Given the description of an element on the screen output the (x, y) to click on. 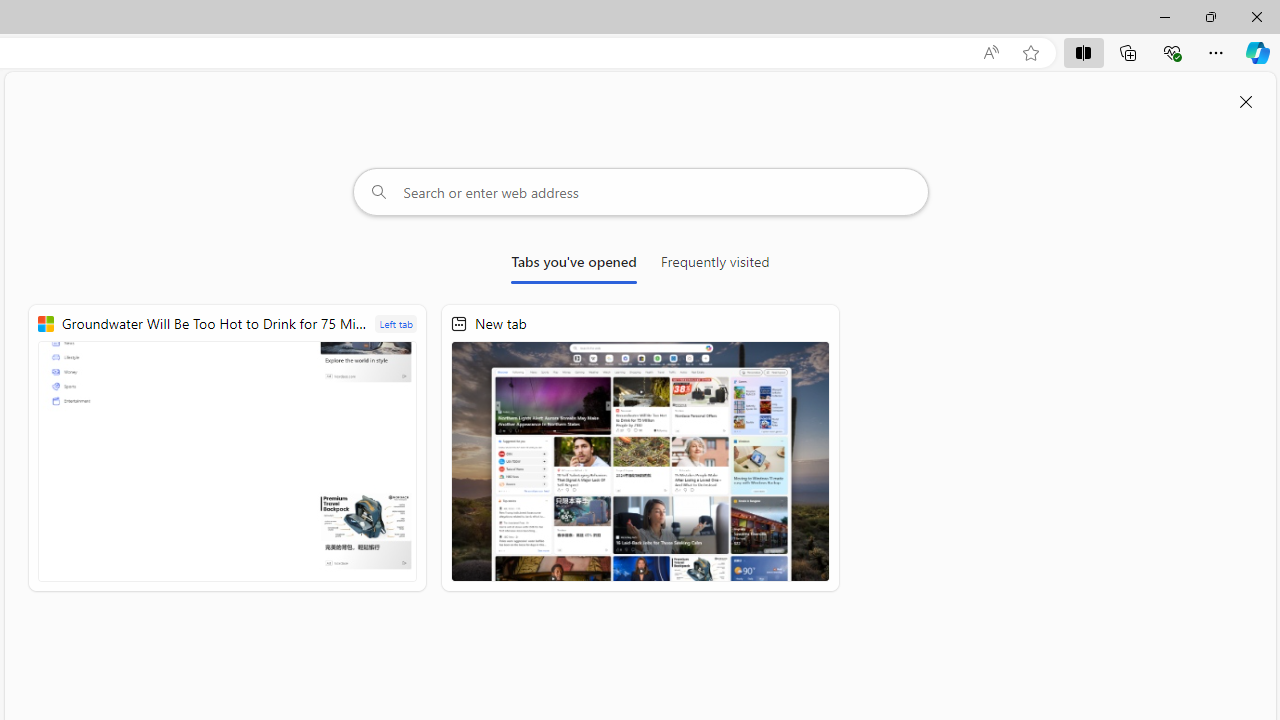
Add this page to favorites (Ctrl+D) (1030, 53)
Tabs you've opened (573, 265)
Frequently visited (715, 265)
Split screen (1083, 52)
Close (1256, 16)
Read aloud this page (Ctrl+Shift+U) (991, 53)
Close split screen (1245, 102)
Copilot (Ctrl+Shift+.) (1258, 52)
Search or enter web address (640, 191)
Restore (1210, 16)
Minimize (1164, 16)
Collections (1128, 52)
Settings and more (Alt+F) (1215, 52)
